Given the description of an element on the screen output the (x, y) to click on. 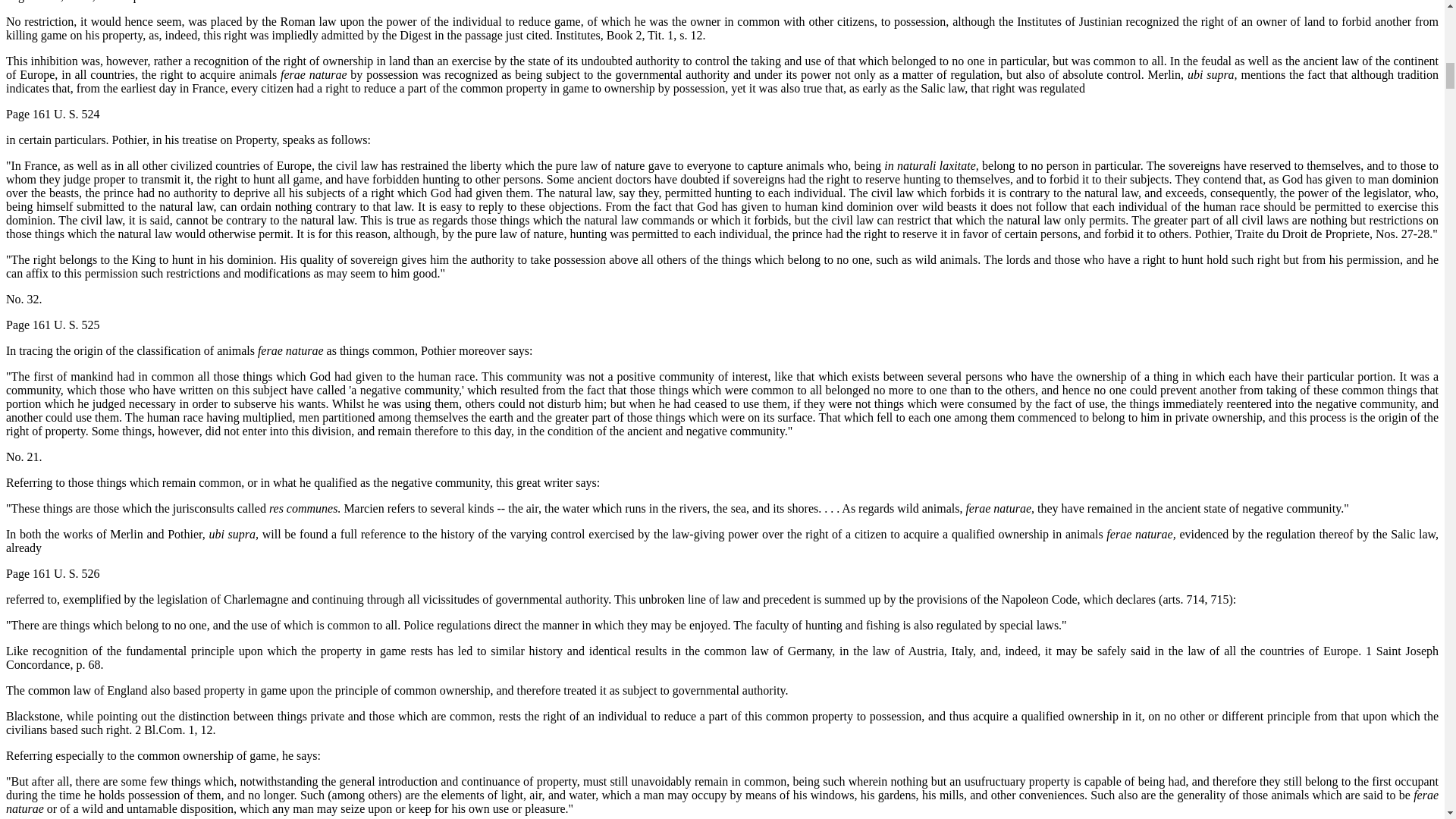
Page 161 U. S. 526 (52, 573)
Page 161 U. S. 524 (52, 113)
Page 161 U. S. 525 (52, 324)
